Given the description of an element on the screen output the (x, y) to click on. 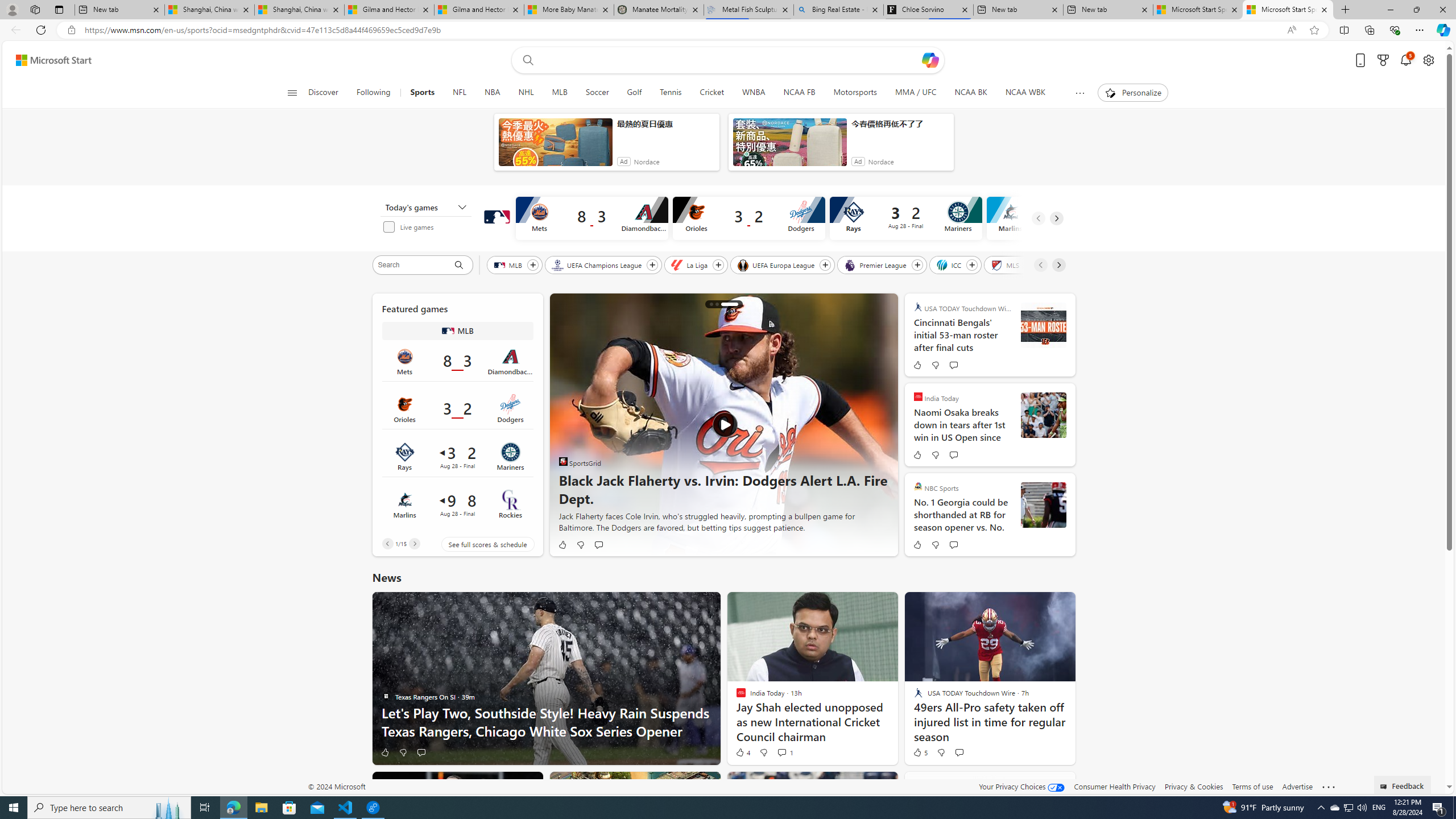
Follow ICC (972, 265)
Follow Premier League (917, 265)
MLB (507, 264)
Open Copilot (930, 59)
next (882, 425)
Follow La Liga (718, 265)
Microsoft Start Sports (1287, 9)
MLB (448, 330)
Address and search bar (680, 29)
Advertise (1297, 786)
